Given the description of an element on the screen output the (x, y) to click on. 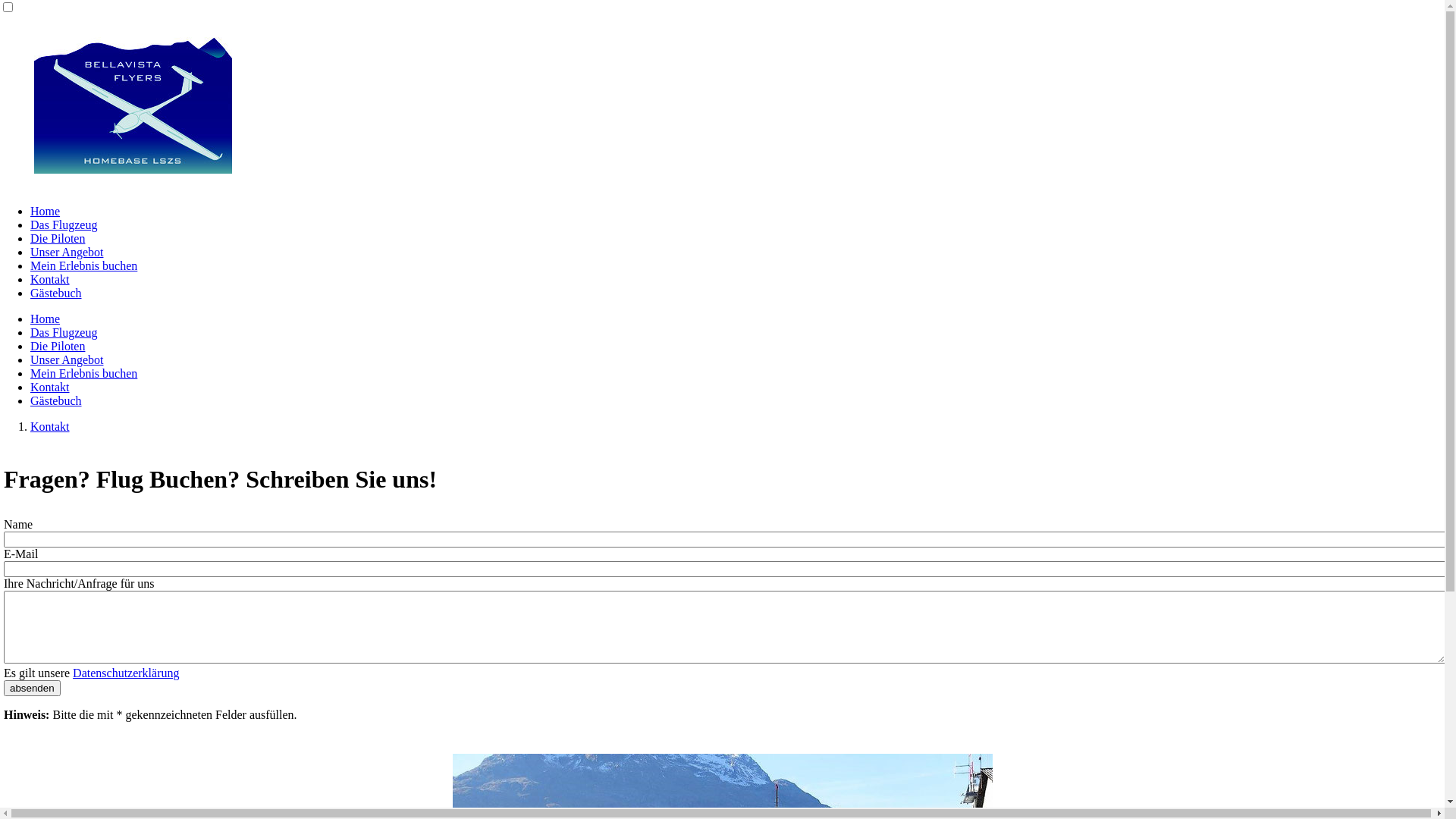
Mein Erlebnis buchen Element type: text (83, 373)
Unser Angebot Element type: text (66, 359)
absenden Element type: text (31, 688)
Home Element type: text (44, 210)
Die Piloten Element type: text (57, 238)
Die Piloten Element type: text (57, 345)
Mein Erlebnis buchen Element type: text (83, 265)
Home Element type: text (44, 318)
Das Flugzeug Element type: text (63, 224)
Kontakt Element type: text (49, 386)
Das Flugzeug Element type: text (63, 332)
Kontakt Element type: text (49, 426)
Unser Angebot Element type: text (66, 251)
Kontakt Element type: text (49, 279)
